Given the description of an element on the screen output the (x, y) to click on. 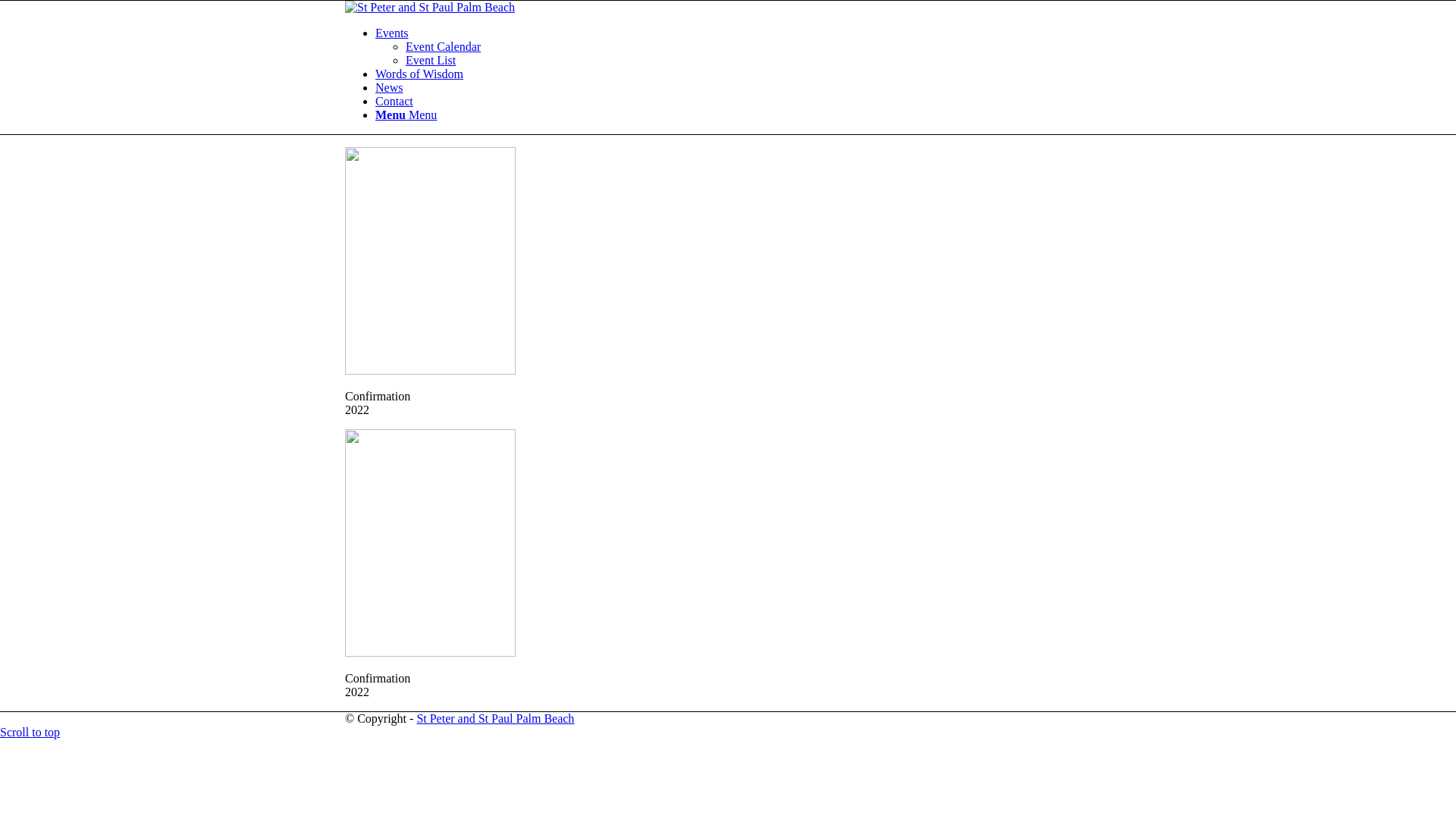
St Peter and St Paul Palm Beach Element type: text (495, 718)
Event List Element type: text (430, 59)
Event Calendar Element type: text (442, 46)
Scroll to top Element type: text (29, 731)
Events Element type: text (391, 32)
logo Element type: hover (429, 7)
Words of Wisdom Element type: text (419, 73)
Contact Element type: text (394, 100)
News Element type: text (388, 87)
Menu Menu Element type: text (405, 114)
